Given the description of an element on the screen output the (x, y) to click on. 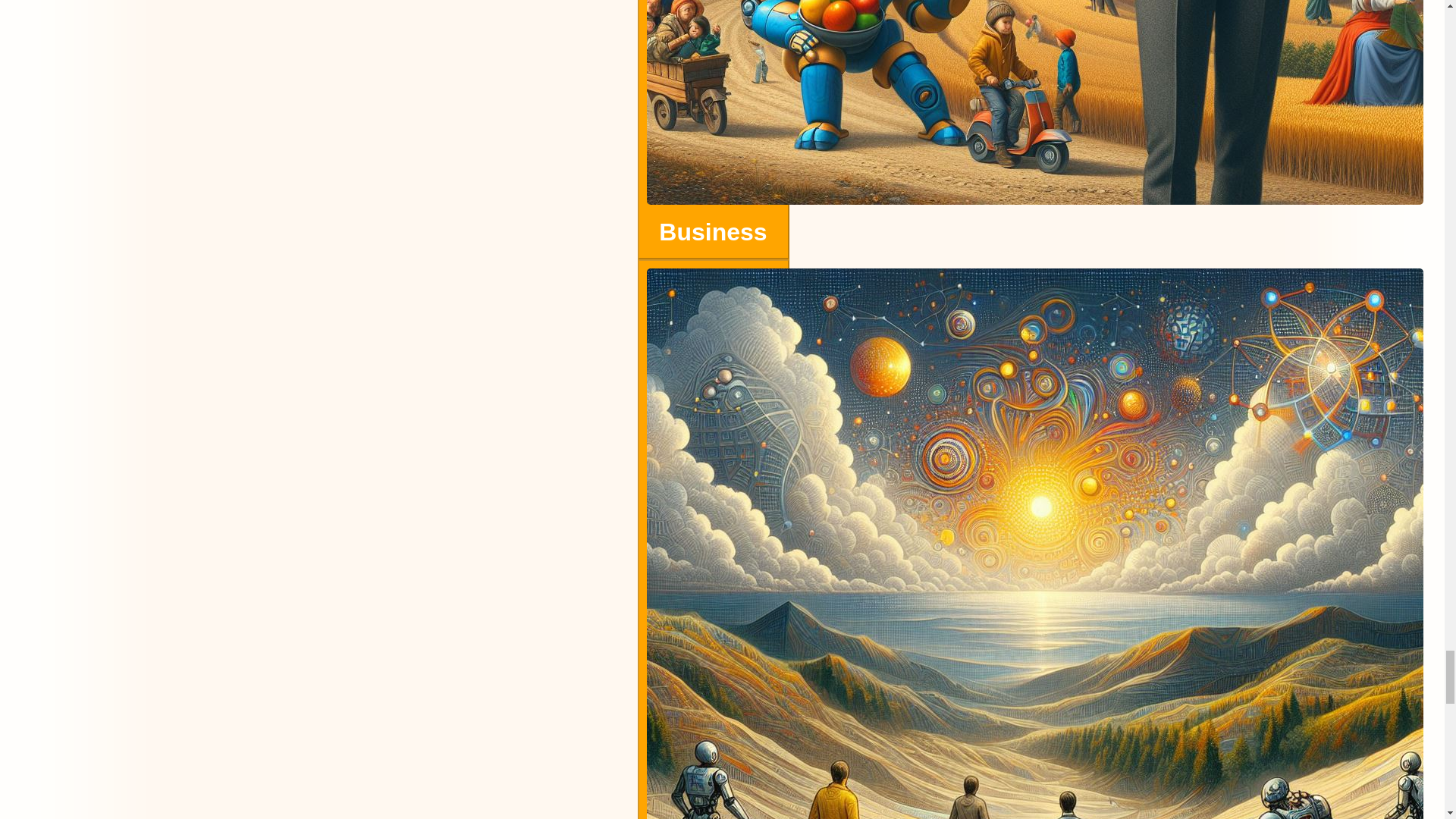
Business (713, 129)
Business (713, 236)
Architect (713, 539)
